Given the description of an element on the screen output the (x, y) to click on. 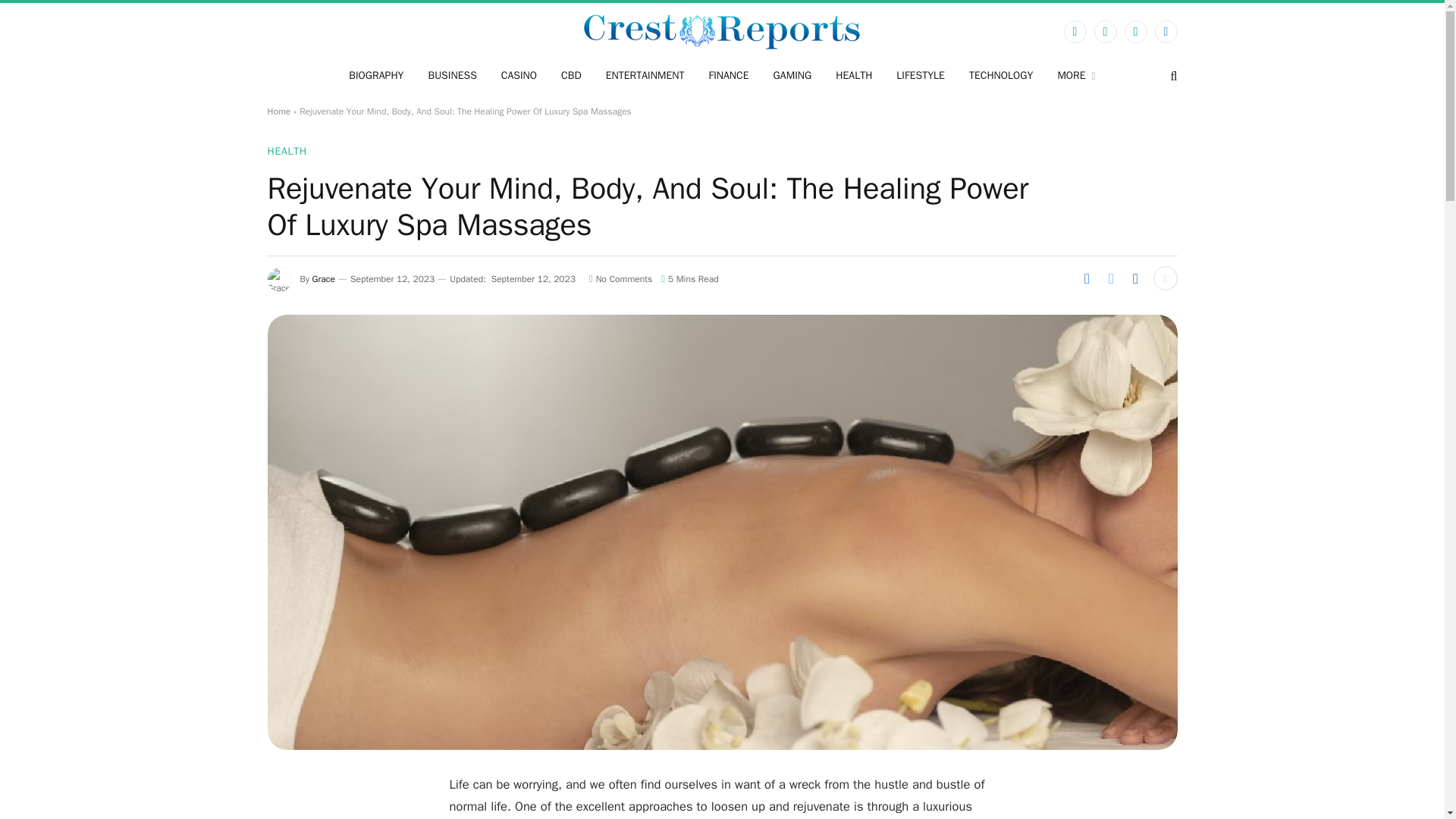
LinkedIn (1165, 31)
TECHNOLOGY (1000, 75)
No Comments (620, 278)
MORE (1075, 75)
Share on LinkedIn (1135, 278)
crestreports.com (721, 31)
CASINO (518, 75)
Grace (323, 278)
FINANCE (727, 75)
Instagram (1135, 31)
